Given the description of an element on the screen output the (x, y) to click on. 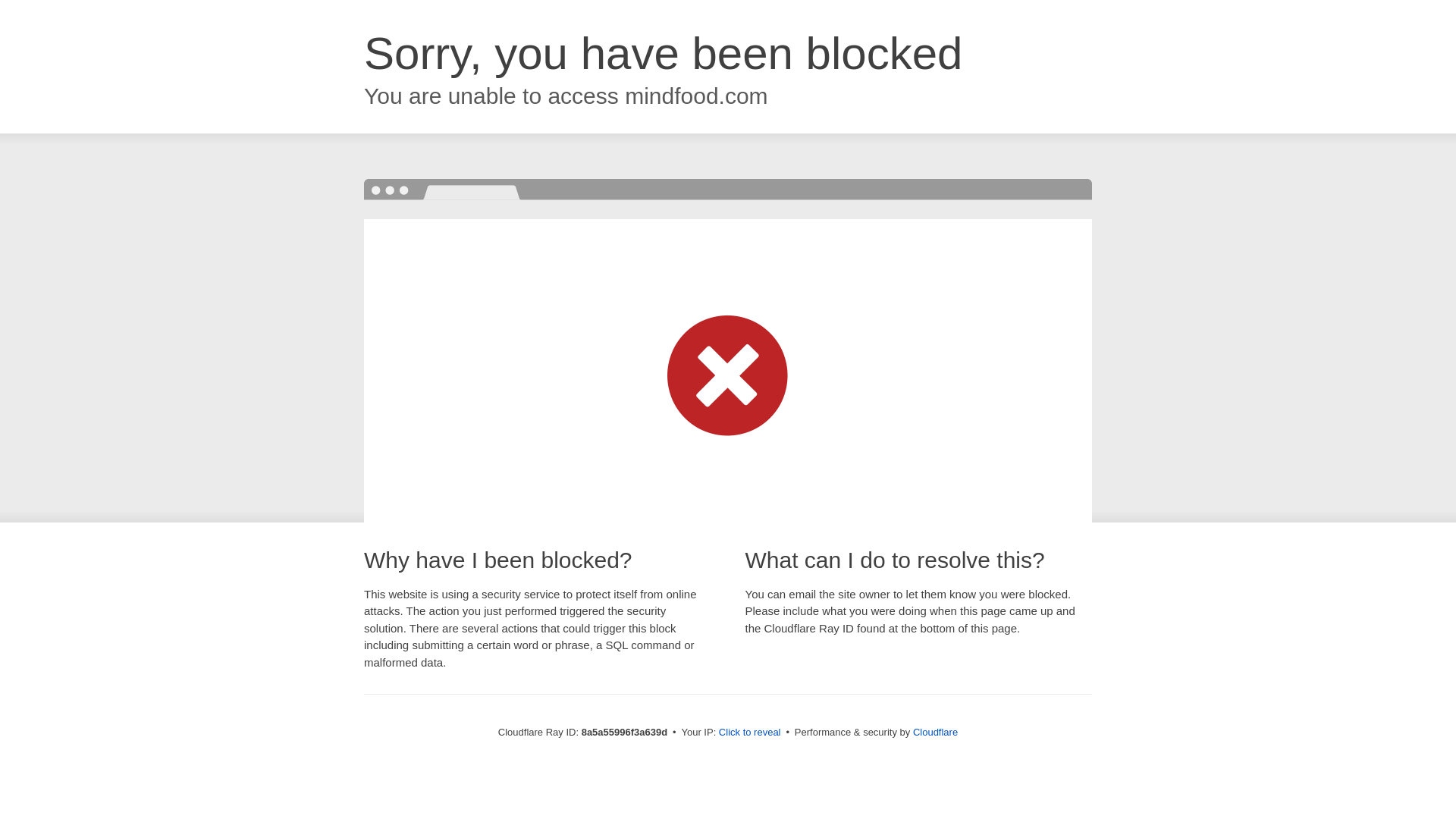
Click to reveal (749, 732)
Cloudflare (935, 731)
